Given the description of an element on the screen output the (x, y) to click on. 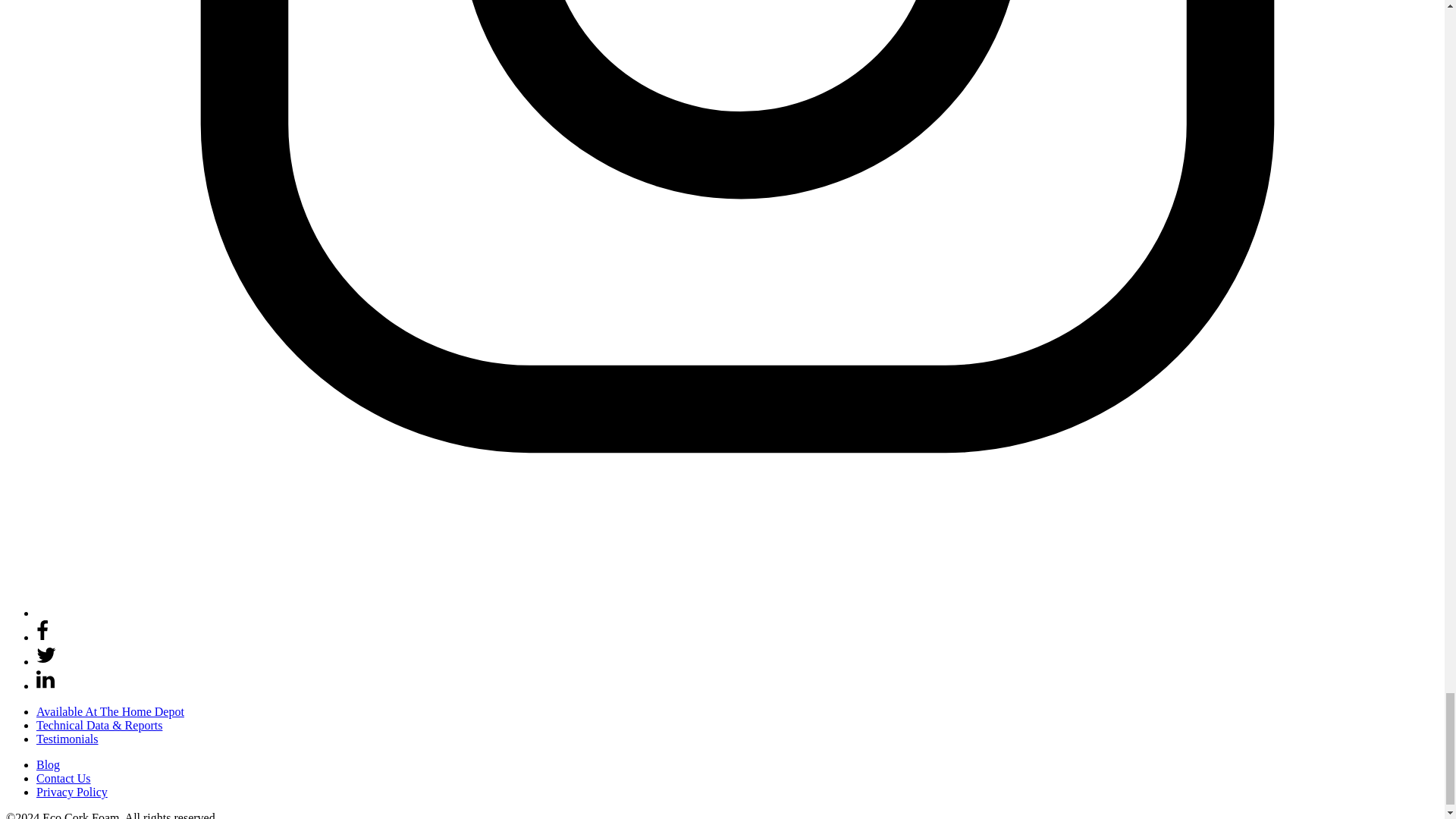
linkedin (45, 685)
twitter (46, 654)
Available At The Home Depot (110, 711)
Testimonials (67, 738)
twitter (46, 661)
facebook (42, 636)
